Given the description of an element on the screen output the (x, y) to click on. 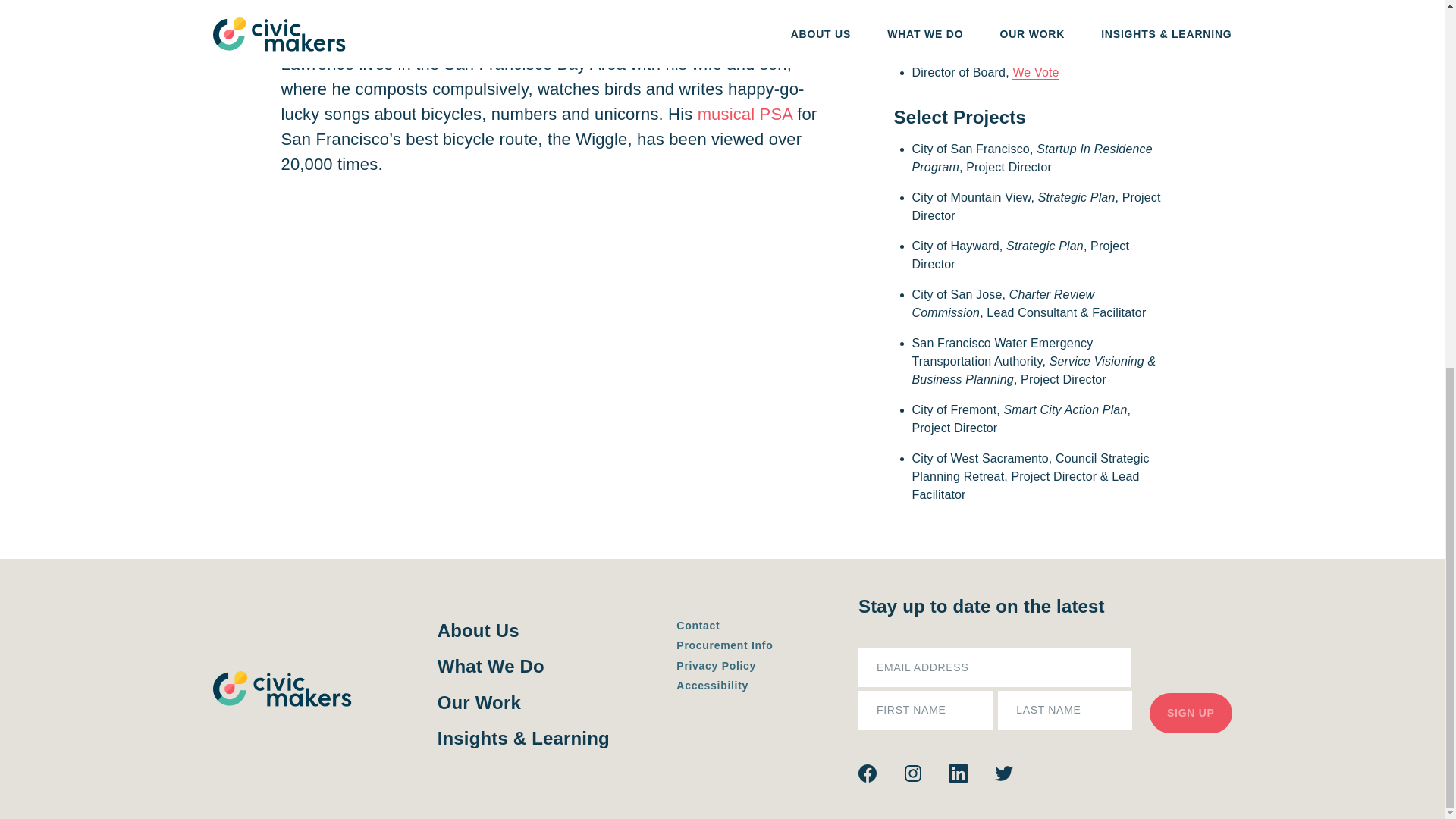
We Vote (1034, 72)
musical PSA (744, 114)
Sign Up (1190, 712)
About Us (524, 630)
